Given the description of an element on the screen output the (x, y) to click on. 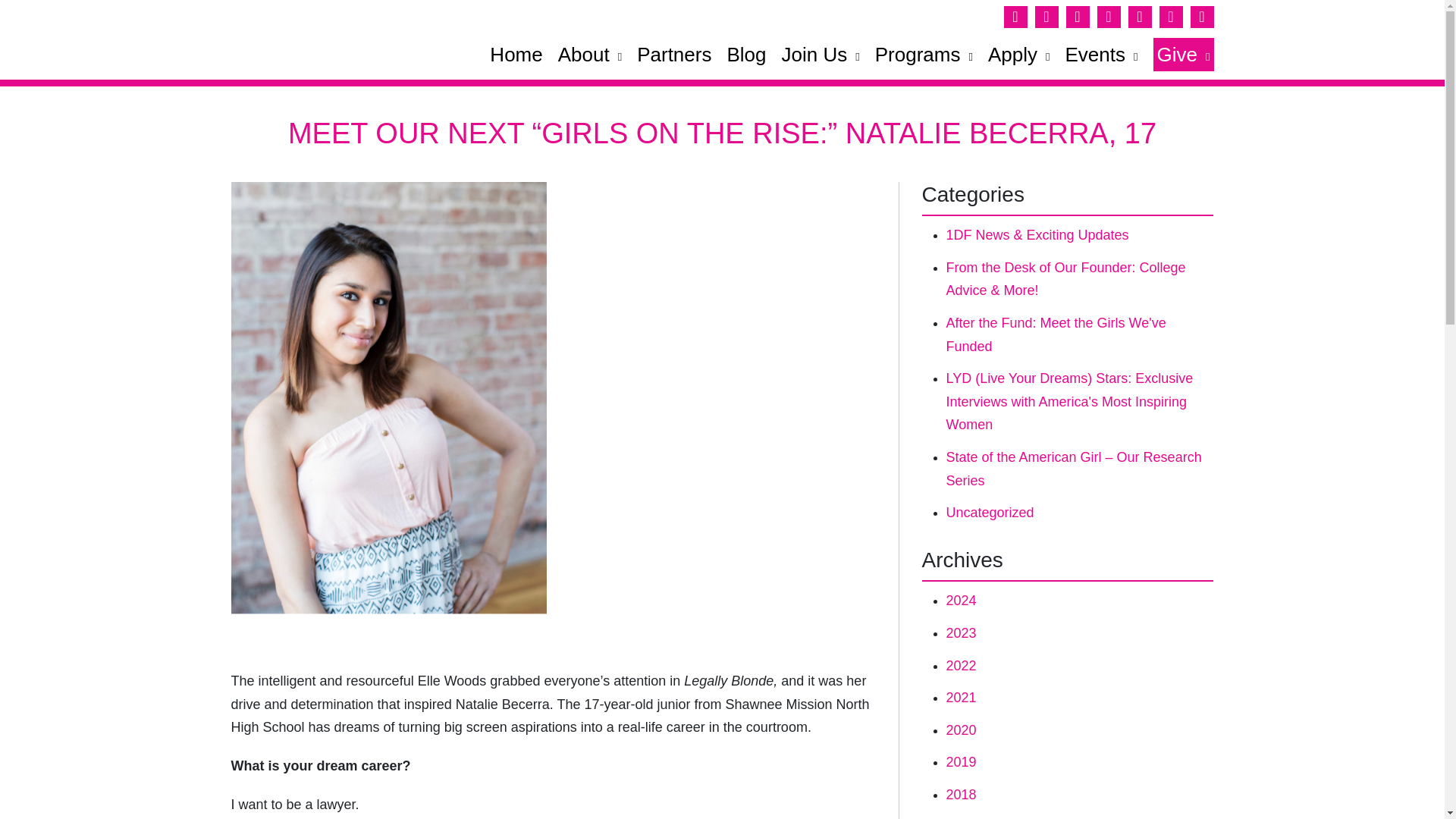
Blog (745, 54)
Partners (674, 54)
Programs (923, 54)
Home (515, 54)
Join Us (819, 54)
About (589, 54)
